Given the description of an element on the screen output the (x, y) to click on. 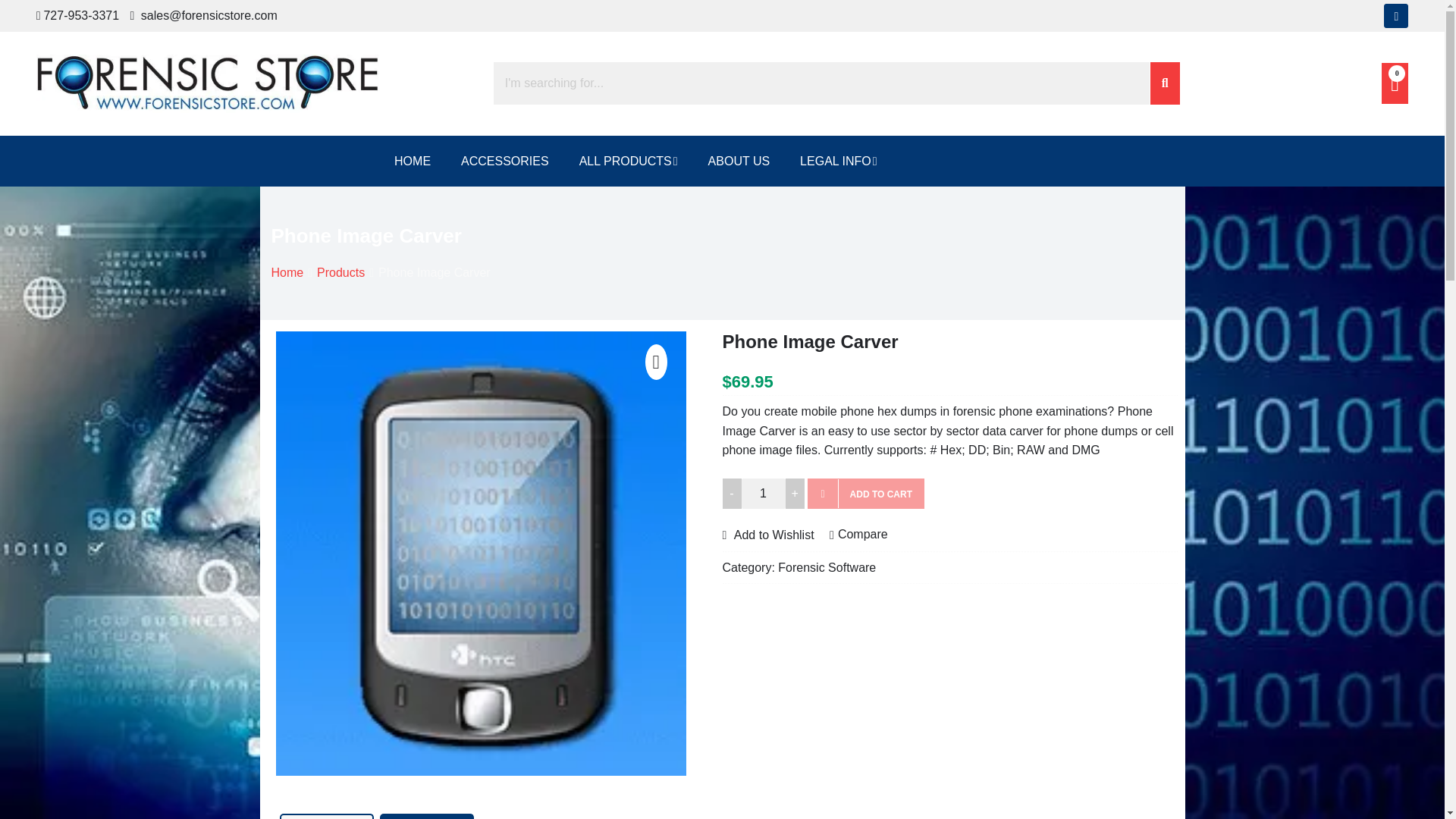
Home (287, 272)
Products (341, 272)
ABOUT US (739, 160)
- (731, 493)
Add to Wishlist (767, 534)
LEGAL INFO (838, 160)
Qty (763, 493)
ADD TO CART (866, 493)
Compare (858, 534)
0 (1394, 83)
View your shopping cart (1394, 83)
1 (763, 493)
Forensic Store (111, 126)
